Given the description of an element on the screen output the (x, y) to click on. 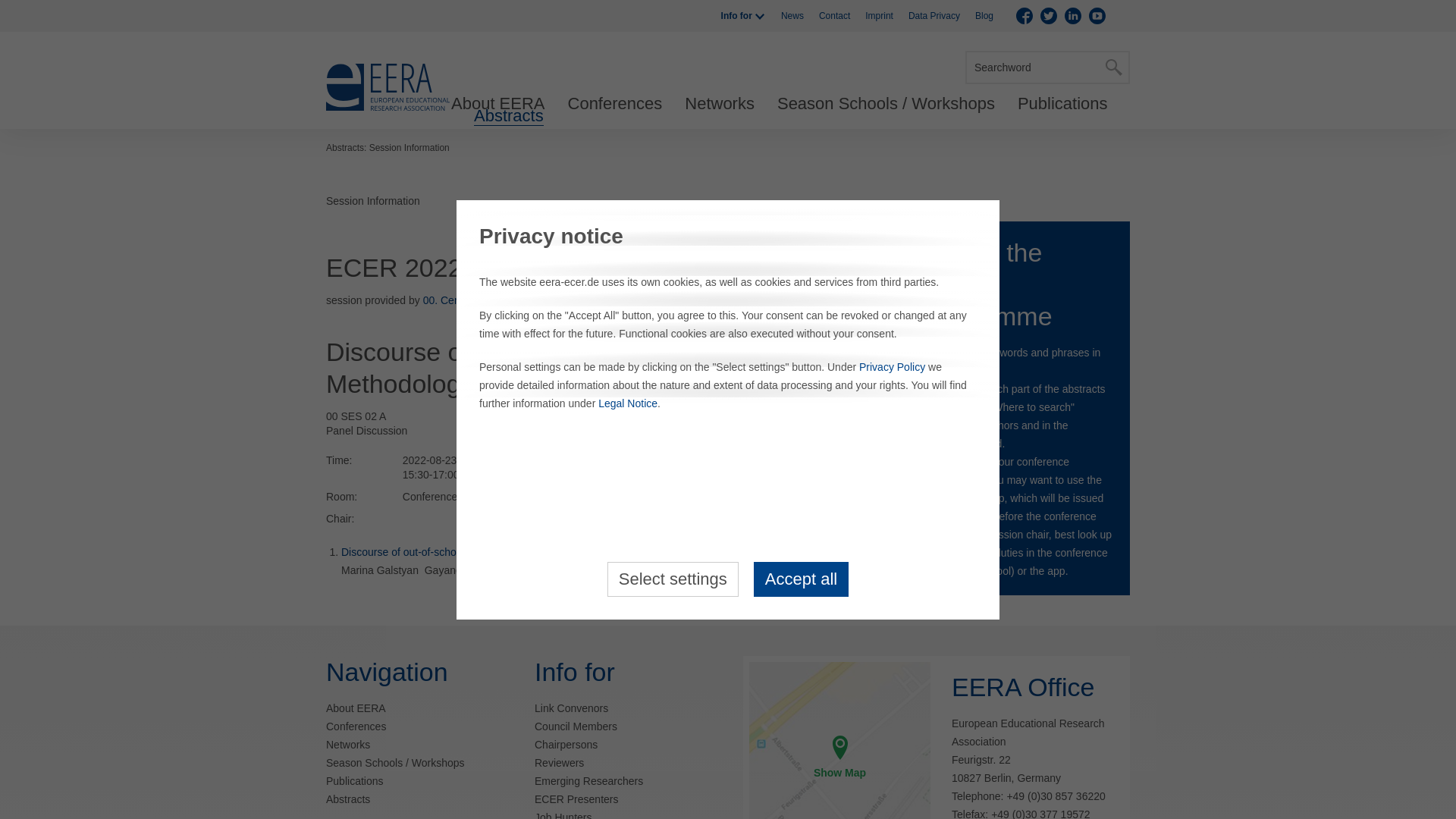
Search (1113, 67)
Accept all (801, 578)
News (791, 15)
YouTube (1097, 15)
Legal Notice (628, 403)
Facebook (1024, 15)
Contact (833, 15)
About EERA (497, 103)
Imprint (879, 15)
Info for (743, 15)
